Given the description of an element on the screen output the (x, y) to click on. 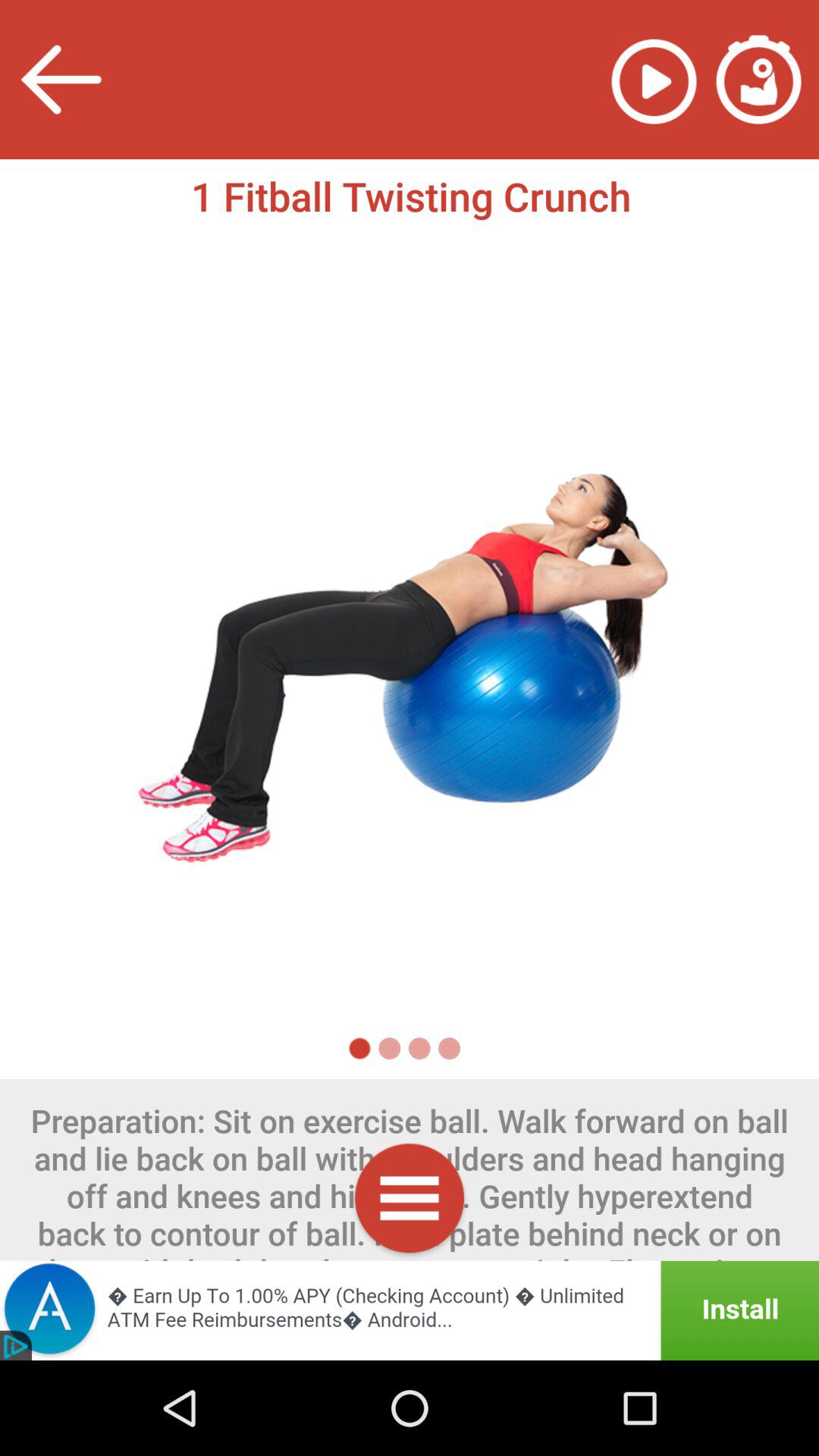
switch autoplay option (653, 79)
